Given the description of an element on the screen output the (x, y) to click on. 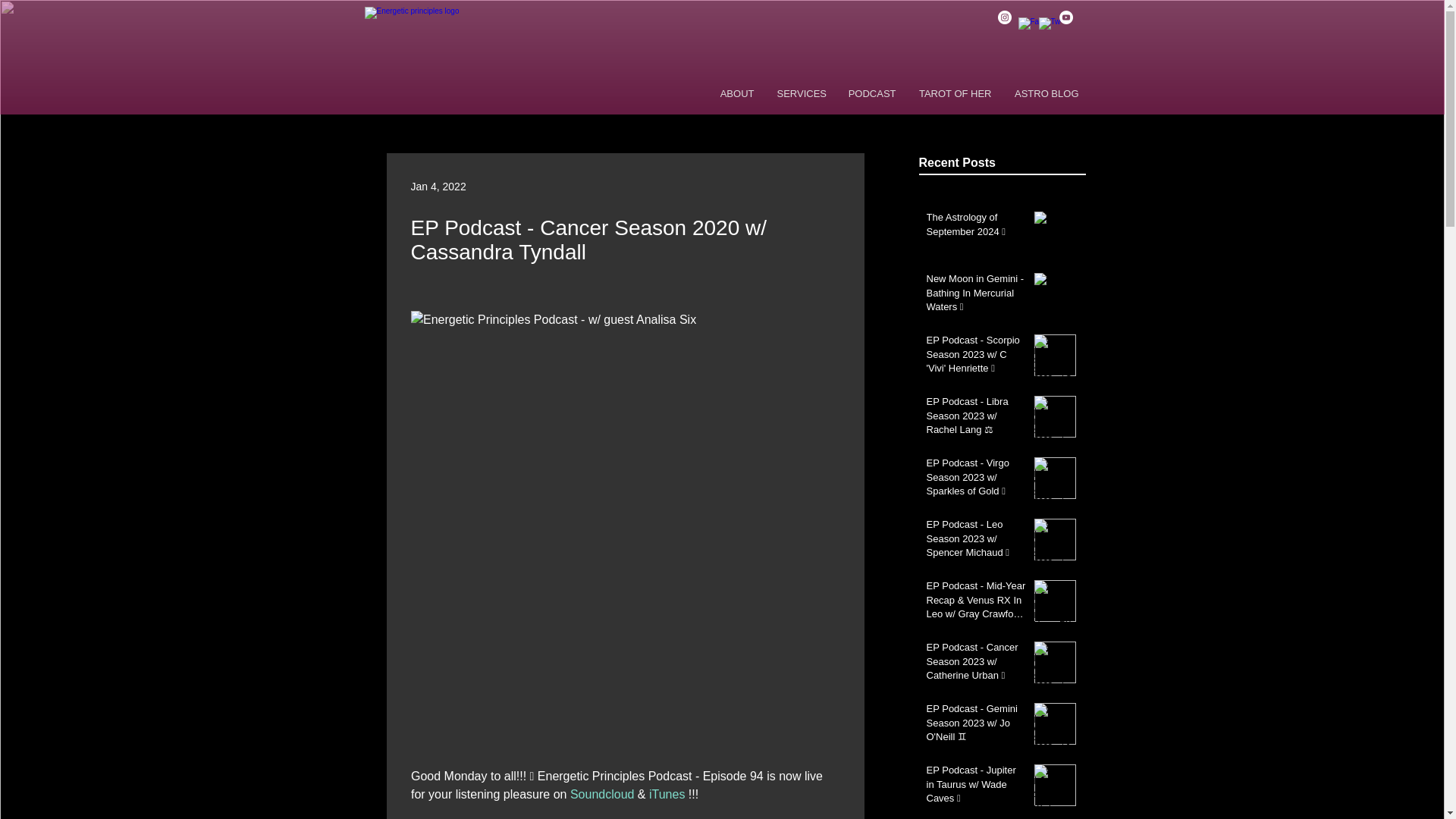
ASTRO BLOG (1046, 93)
ABOUT (735, 93)
SERVICES (800, 93)
Jan 4, 2022 (437, 186)
TAROT OF HER (955, 93)
PODCAST (871, 93)
iTunes (665, 793)
Soundcloud (601, 793)
